Given the description of an element on the screen output the (x, y) to click on. 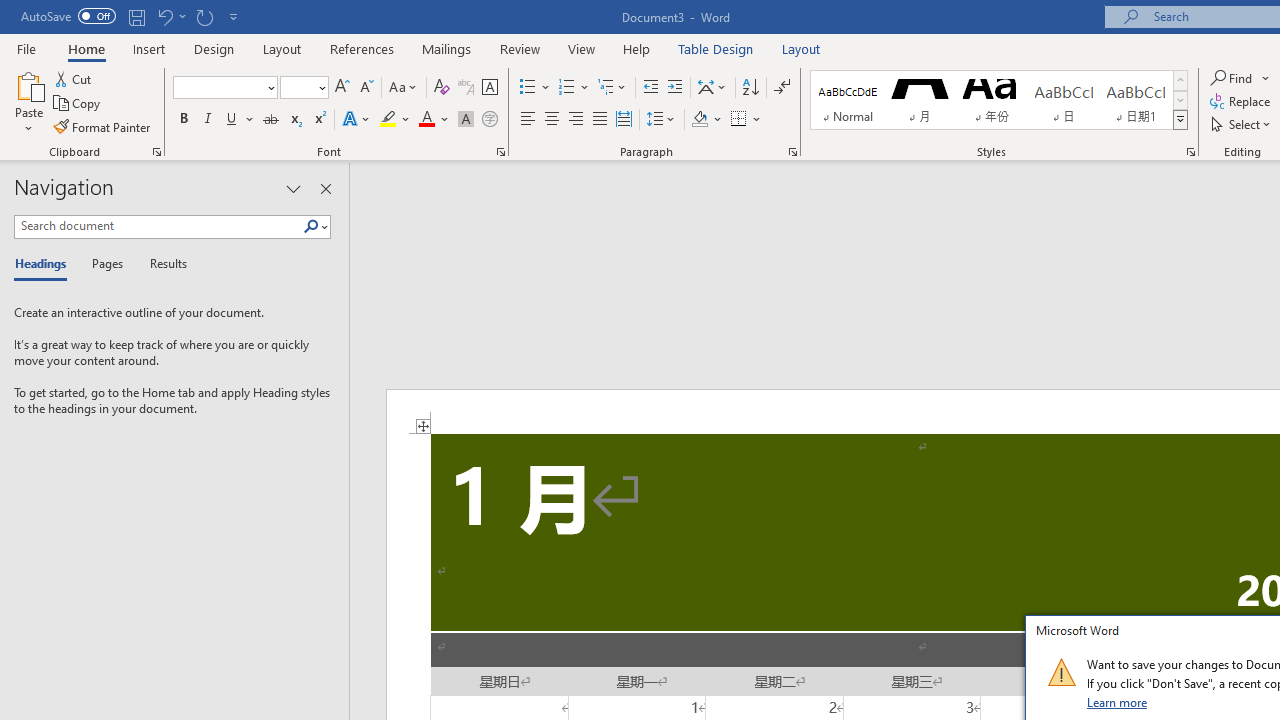
Font (224, 87)
Bullets (527, 87)
Help (637, 48)
Layout (801, 48)
Shading (706, 119)
Borders (746, 119)
Search document (157, 226)
